Given the description of an element on the screen output the (x, y) to click on. 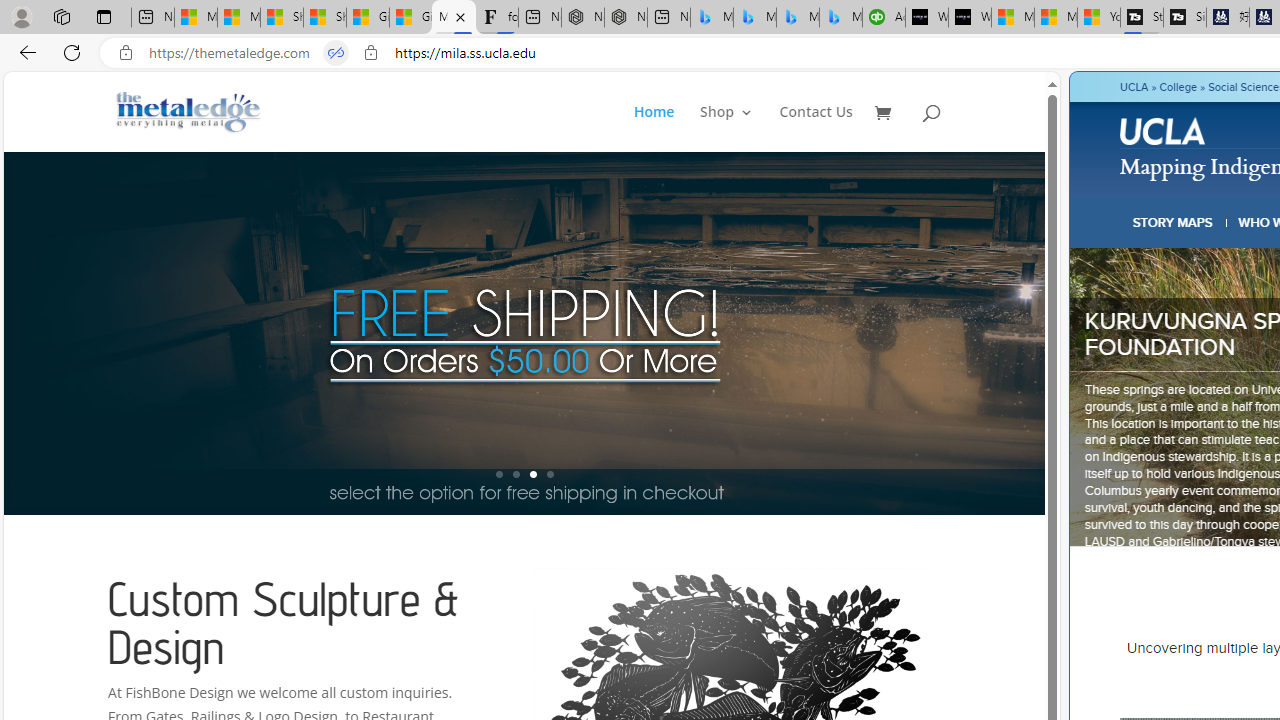
IMG_0092 (556, 397)
STORY MAPS (1173, 222)
Accounting Software for Accountants, CPAs and Bookkeepers (883, 17)
